Given the description of an element on the screen output the (x, y) to click on. 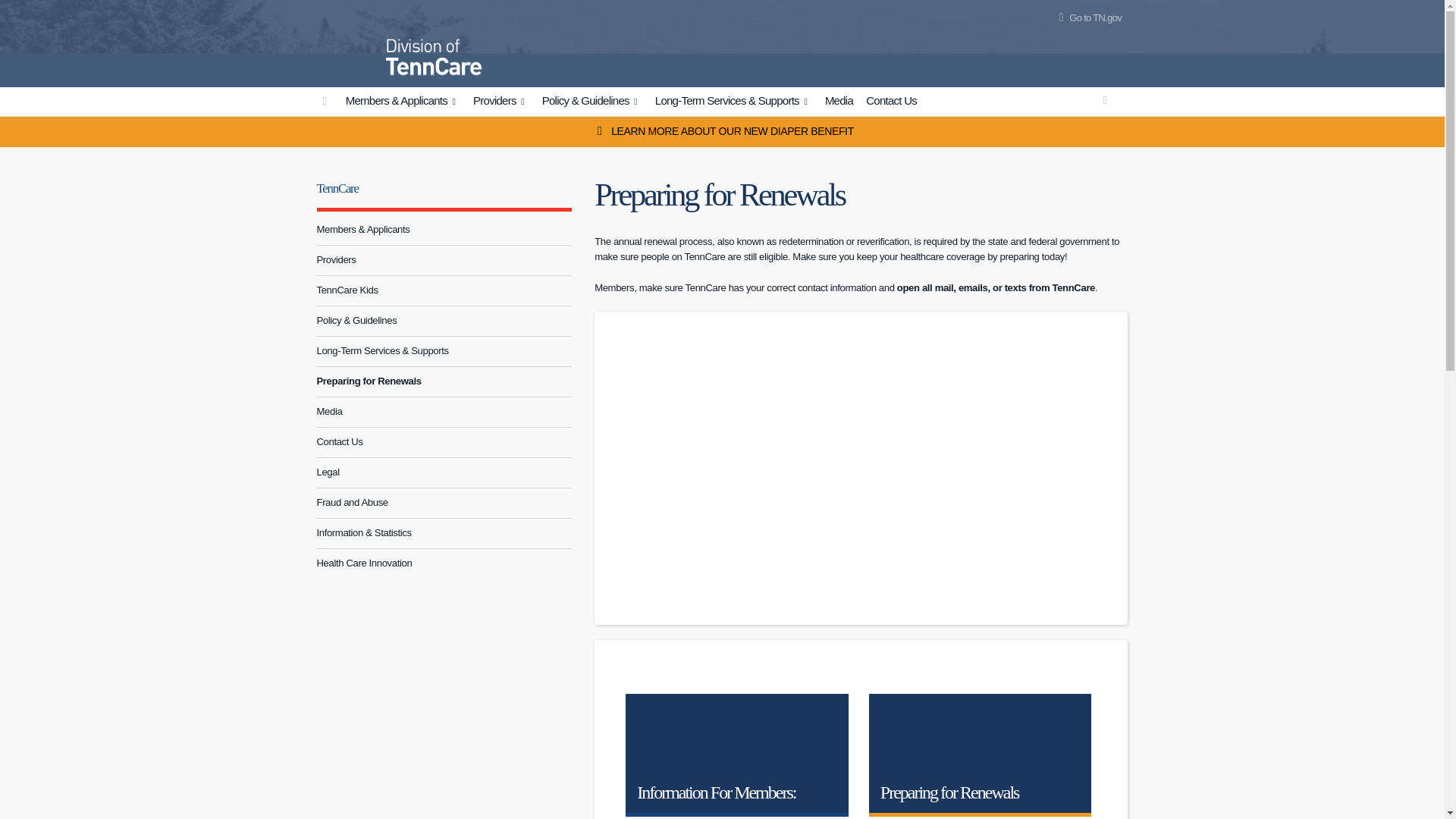
Go to TN.gov (1086, 18)
Overview video of the renewal process from YouTube (861, 465)
Information For Members: (737, 754)
Providers (500, 101)
Home (347, 41)
Preparing for Renewals (980, 754)
Go to TennCare (324, 100)
